Given the description of an element on the screen output the (x, y) to click on. 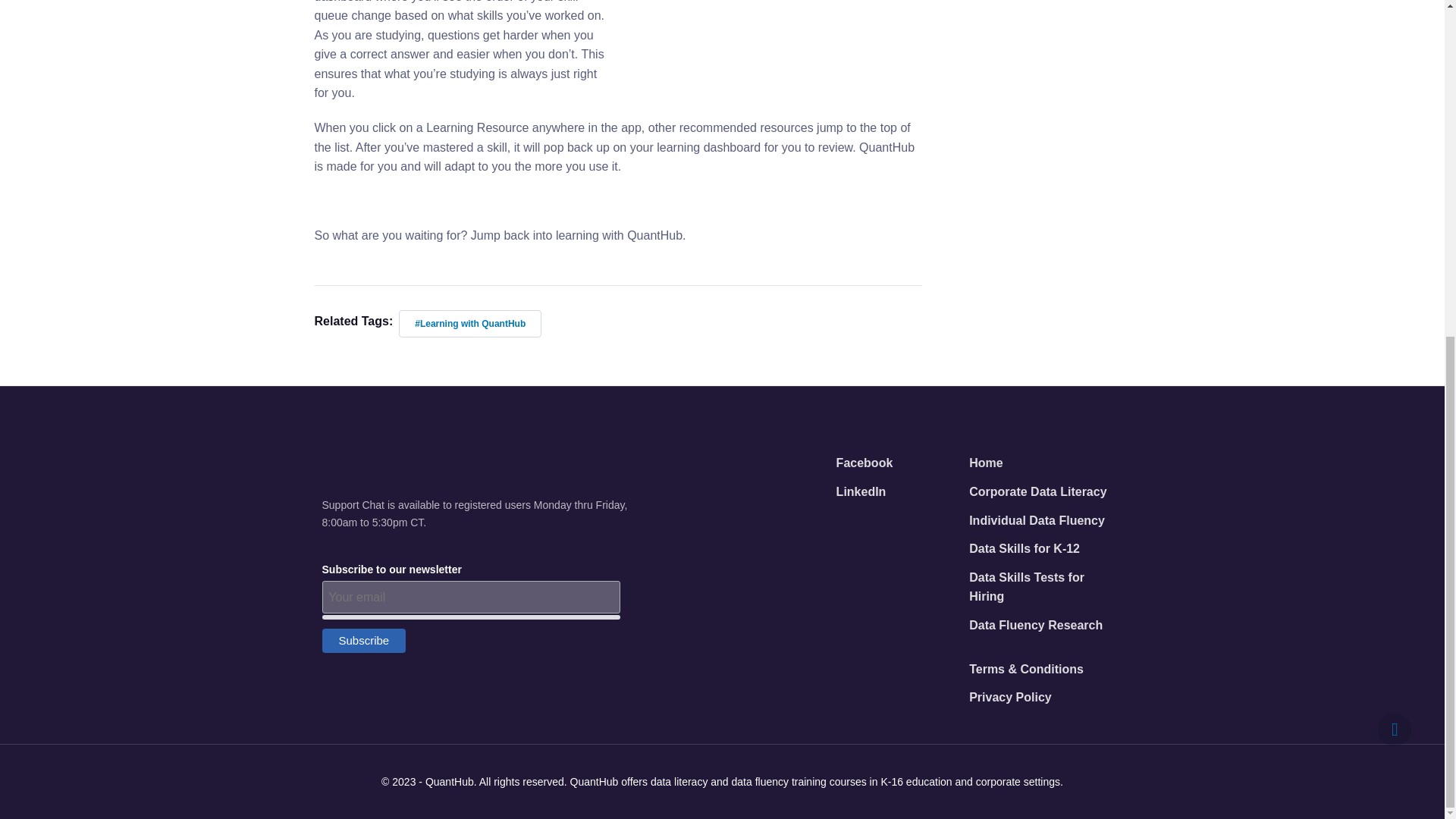
LinkedIn (860, 493)
Corporate Data Literacy (1037, 493)
Individual Data Fluency (1037, 522)
Data Fluency Research (1035, 626)
Home (986, 464)
Subscribe (363, 640)
Privacy Policy (1010, 698)
Data Skills Tests for Hiring (1045, 588)
Data Skills for K-12 (1024, 550)
Subscribe (363, 640)
